Given the description of an element on the screen output the (x, y) to click on. 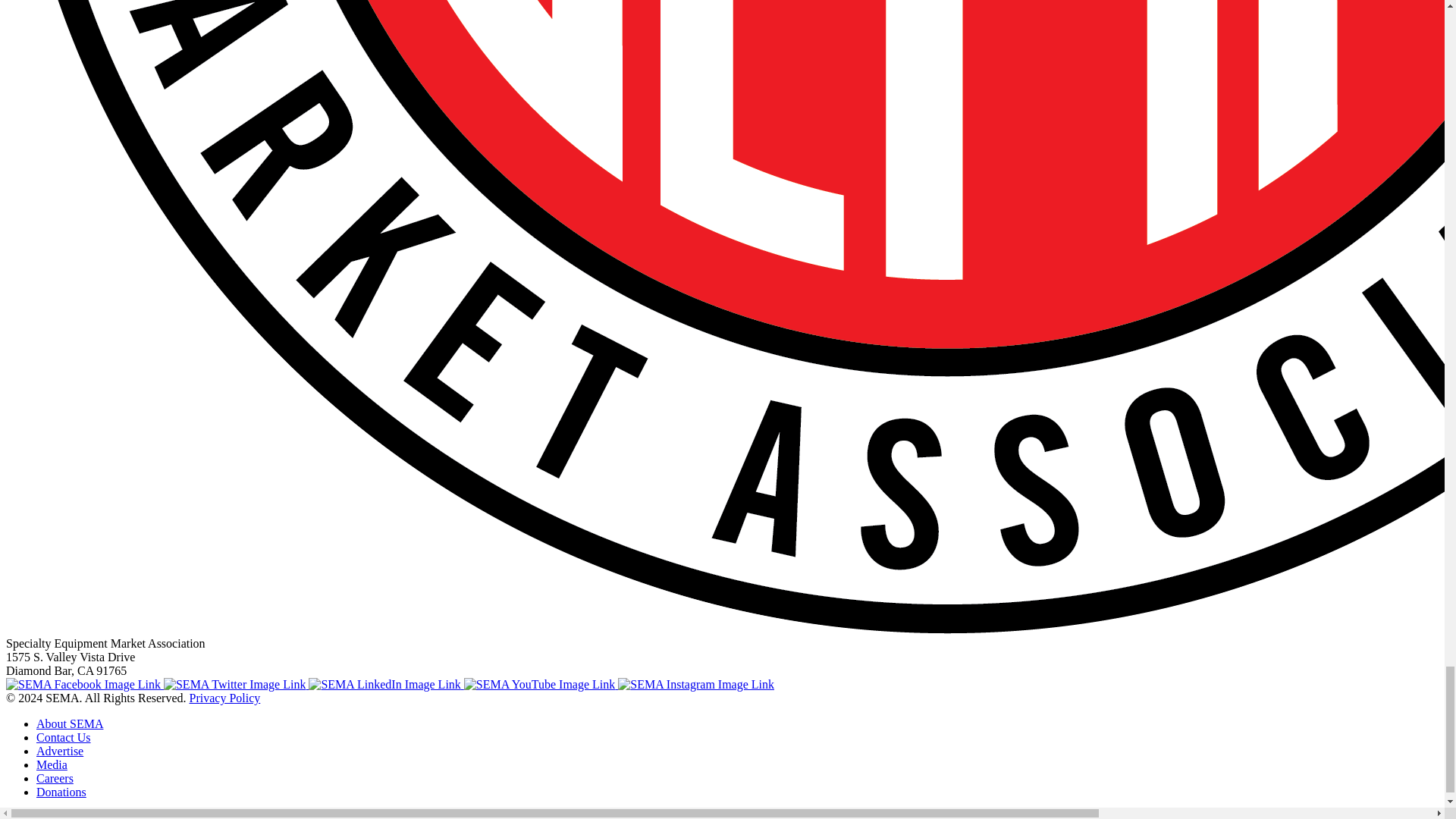
SEMA LinkedIn Link (385, 684)
SEMA YouTube Link (540, 684)
SEMA Facebook Link (84, 684)
SEMA Instagram Link (695, 684)
Privacy Policy (224, 697)
SEMA Twitter Link (235, 684)
